Given the description of an element on the screen output the (x, y) to click on. 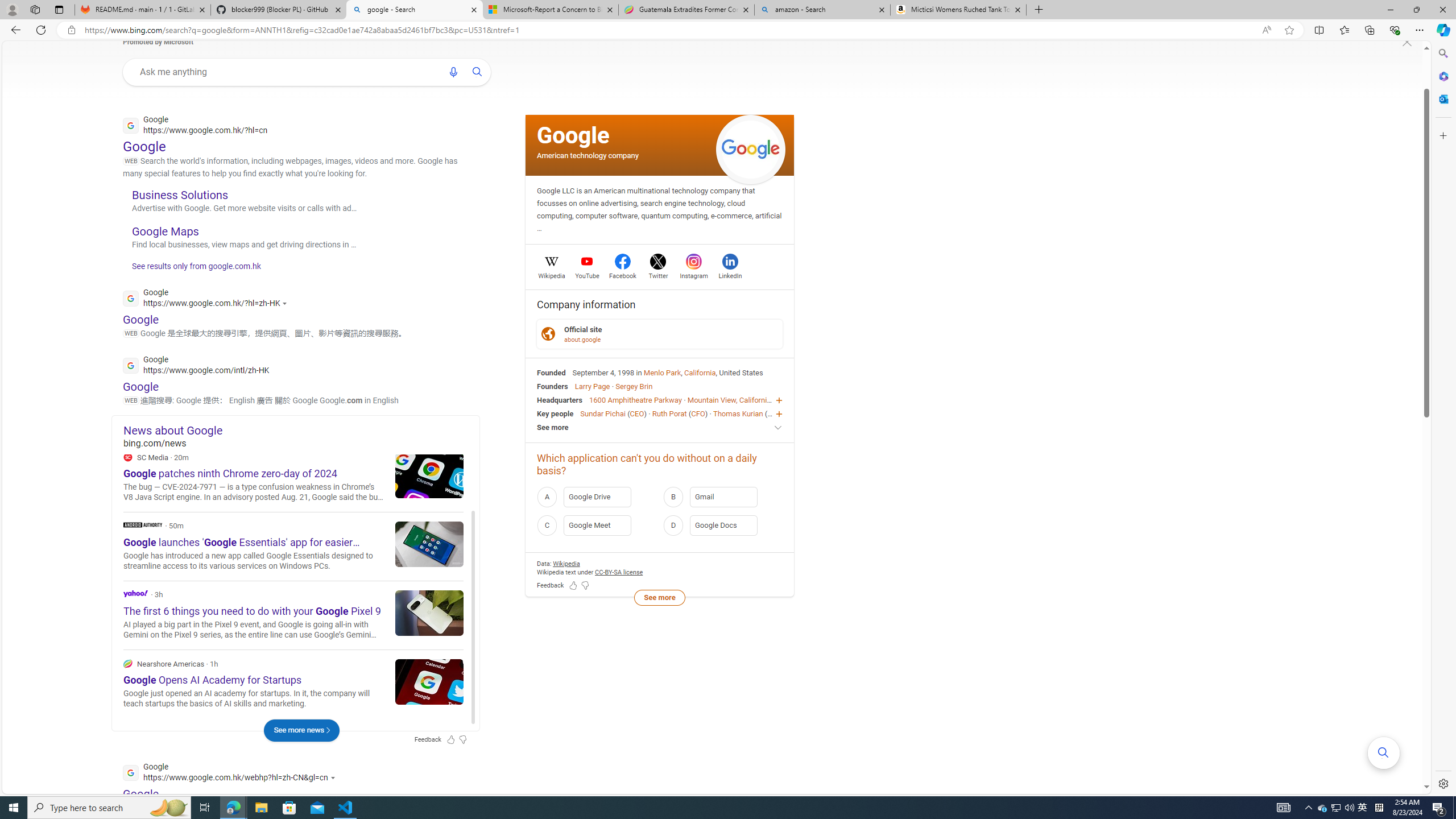
AutomationID: mfa_root (1383, 752)
YouTube (587, 274)
Thomas Kurian (736, 412)
AutomationID: uaseabtn (478, 71)
Yahoo (135, 593)
Mountain View, California (729, 399)
C Google Meet (596, 525)
Like (396, 483)
Class: rms_img (1407, 41)
Google Maps (165, 231)
Google patches ninth Chrome zero-day of 2024 (428, 474)
